Given the description of an element on the screen output the (x, y) to click on. 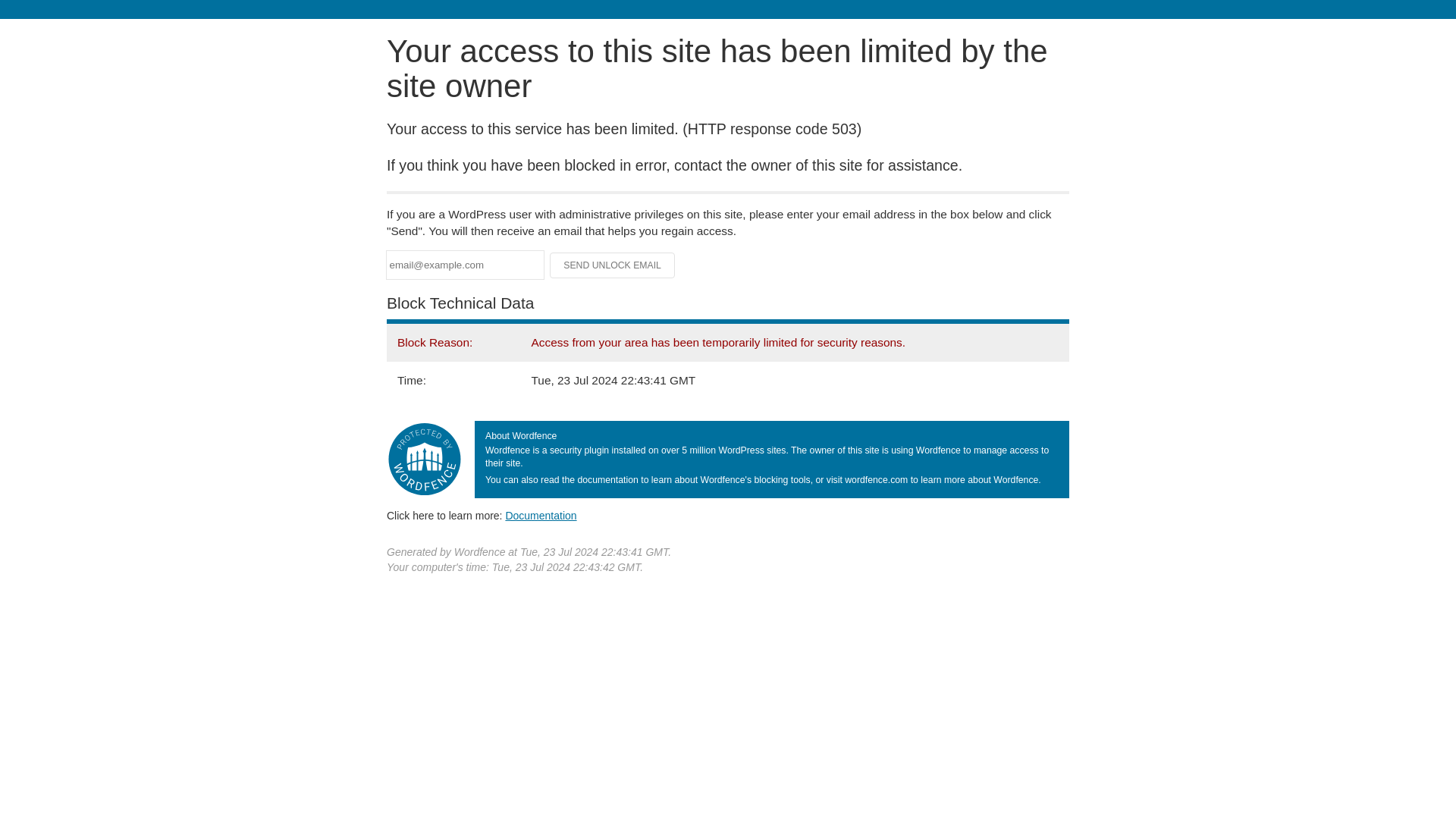
Send Unlock Email (612, 265)
Documentation (540, 515)
Send Unlock Email (612, 265)
